Given the description of an element on the screen output the (x, y) to click on. 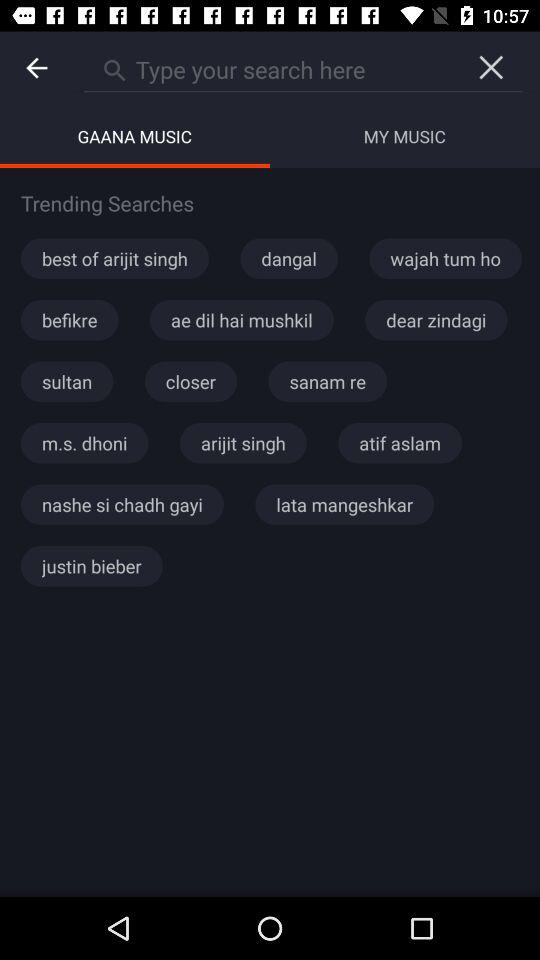
address bar (271, 67)
